Given the description of an element on the screen output the (x, y) to click on. 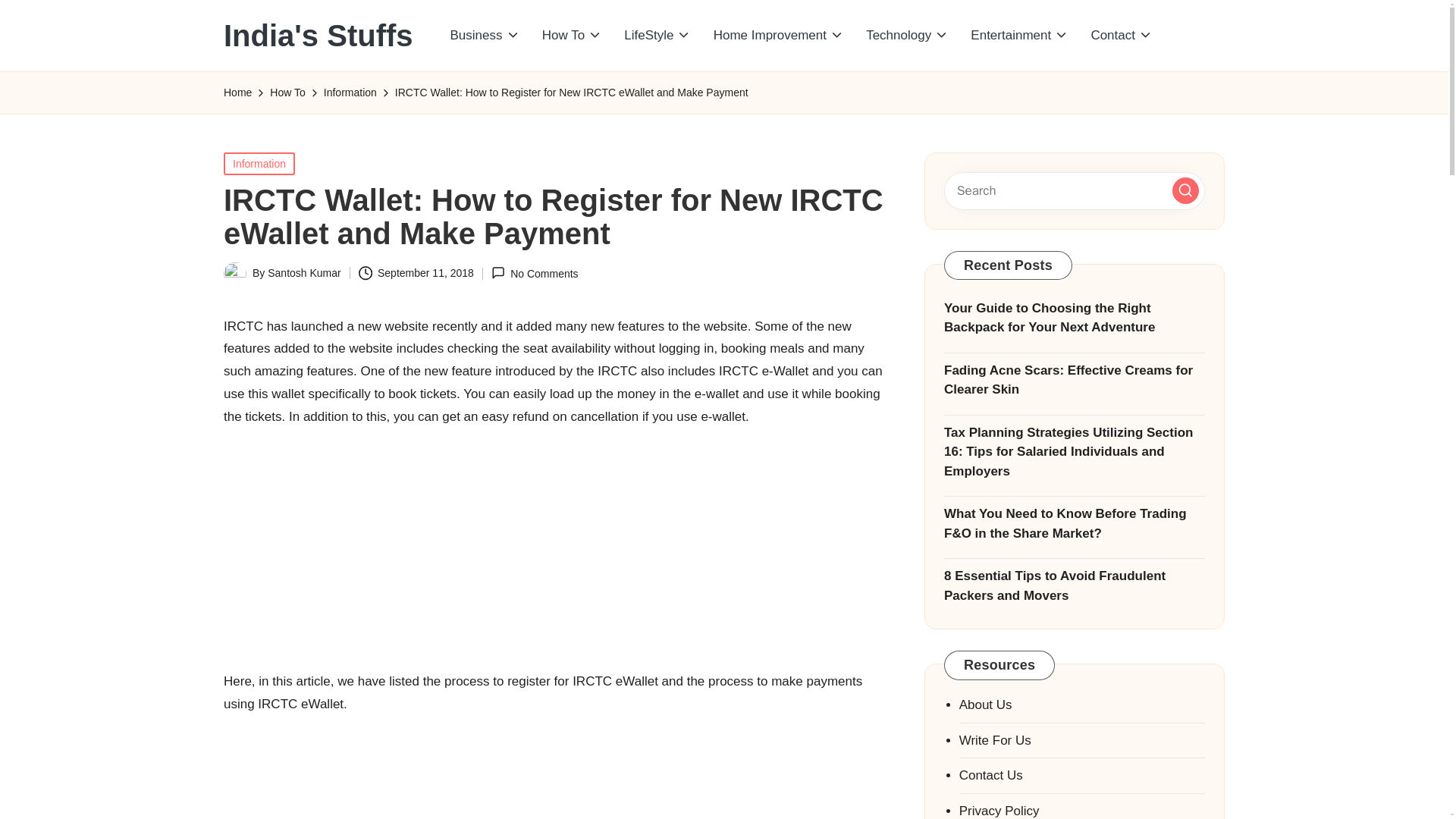
Advertisement (555, 544)
View all posts by Santosh Kumar (303, 272)
Advertisement (555, 772)
India's Stuffs (318, 35)
